Given the description of an element on the screen output the (x, y) to click on. 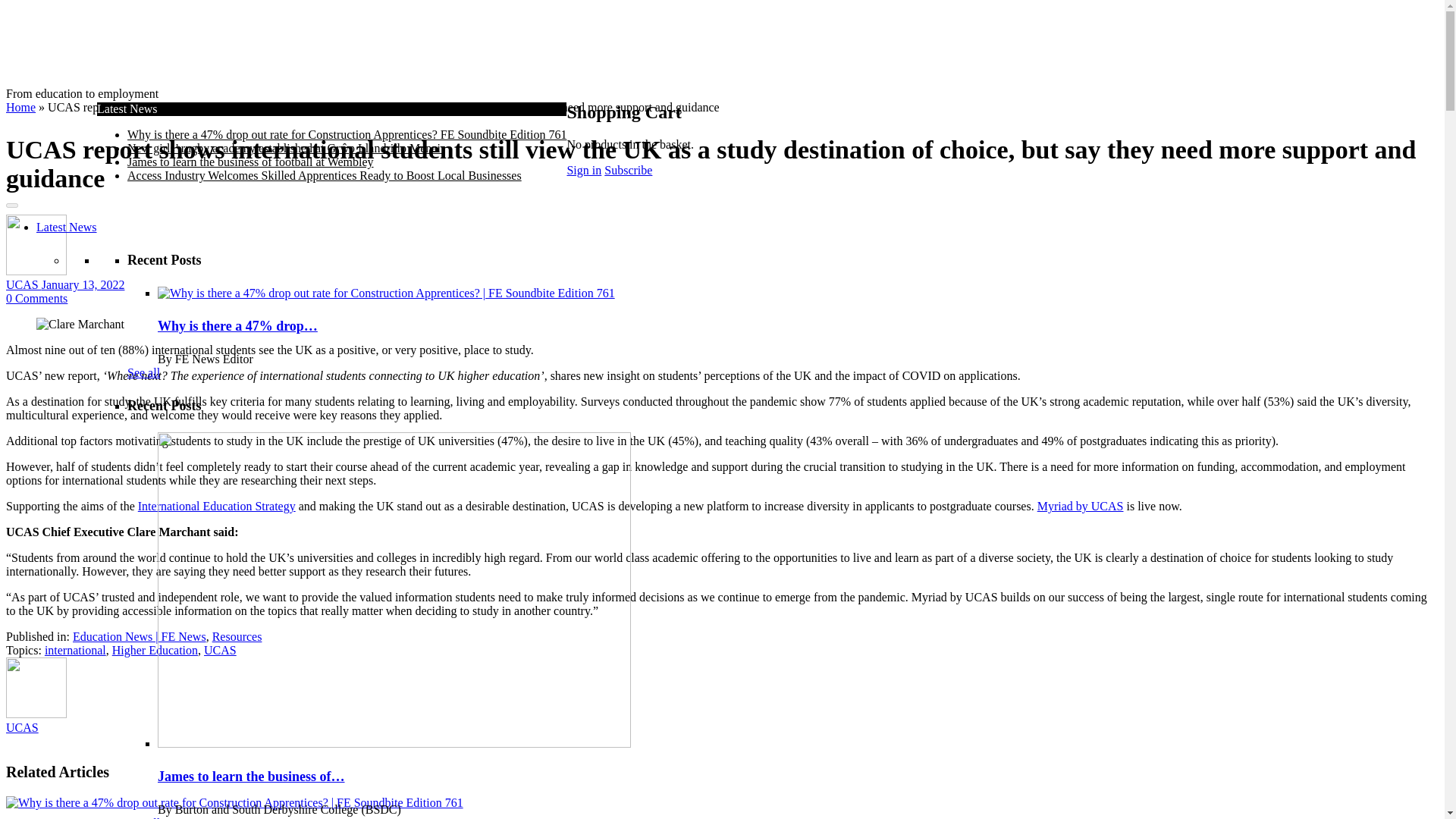
Subscribe (628, 169)
See all (144, 817)
See all (144, 372)
Sign in (583, 169)
James to learn the business of football at Wembley (251, 161)
Latest News (66, 226)
